Given the description of an element on the screen output the (x, y) to click on. 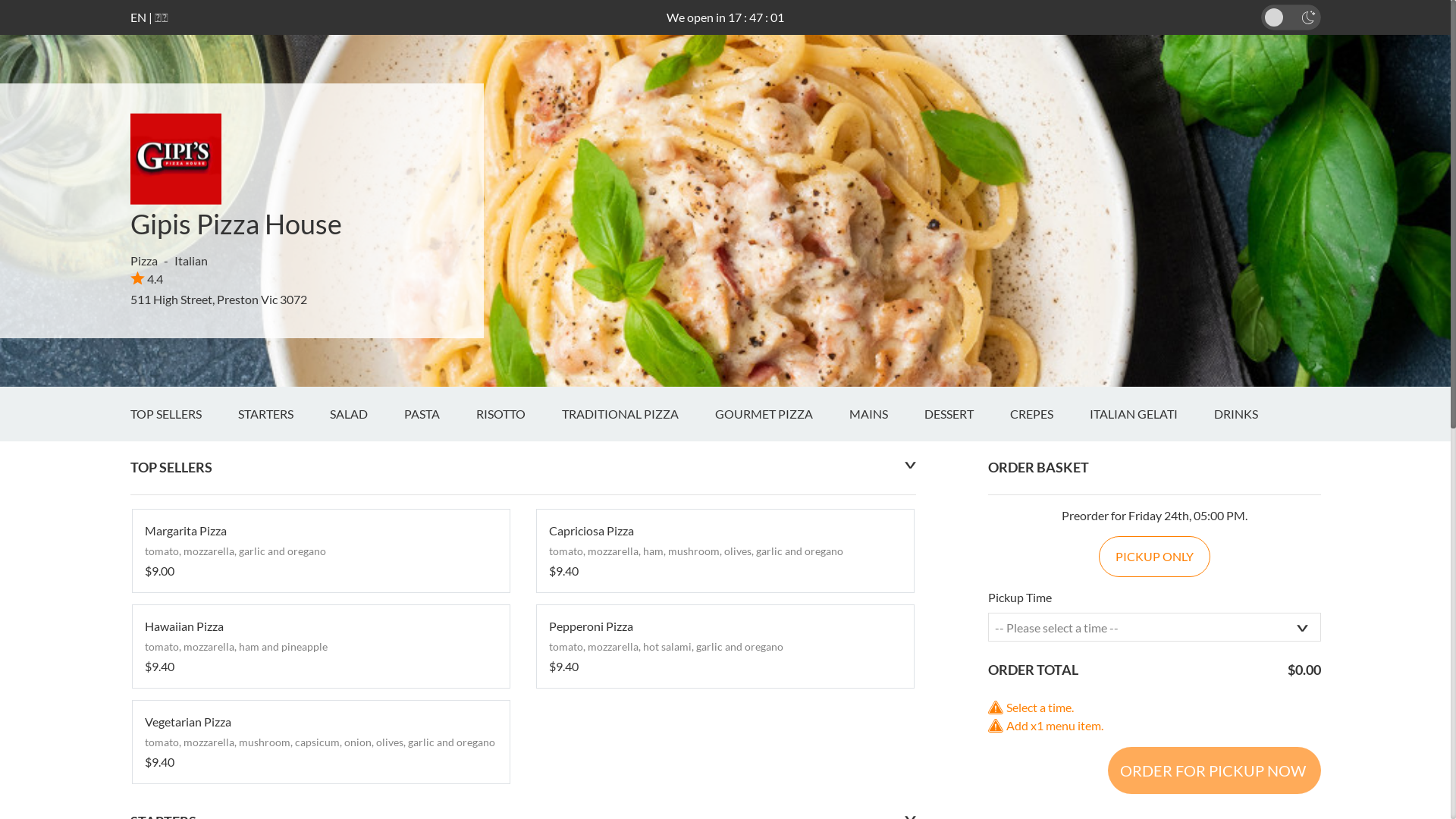
Margarita Pizza
tomato, mozzarella, garlic and oregano
$9.00 Element type: text (320, 550)
SALAD Element type: text (366, 413)
Hawaiian Pizza
tomato, mozzarella, ham and pineapple
$9.40 Element type: text (320, 646)
MAINS Element type: text (886, 413)
Hawaiian Pizza
tomato, mozzarella, ham and pineapple
$9.40 Element type: text (320, 646)
RISOTTO Element type: text (518, 413)
TOP SELLERS Element type: text (184, 413)
STARTERS Element type: text (283, 413)
DRINKS Element type: text (1253, 413)
ITALIAN GELATI Element type: text (1150, 413)
EN Element type: text (138, 16)
ORDER FOR PICKUP NOW  Element type: text (1213, 769)
PICKUP ONLY Element type: text (1154, 556)
DESSERT Element type: text (966, 413)
PASTA Element type: text (439, 413)
4.4 Element type: text (146, 278)
Margarita Pizza
tomato, mozzarella, garlic and oregano
$9.00 Element type: text (320, 550)
GOURMET PIZZA Element type: text (781, 413)
CREPES Element type: text (1049, 413)
Gipis Pizza House Element type: text (236, 223)
TRADITIONAL PIZZA Element type: text (637, 413)
